Given the description of an element on the screen output the (x, y) to click on. 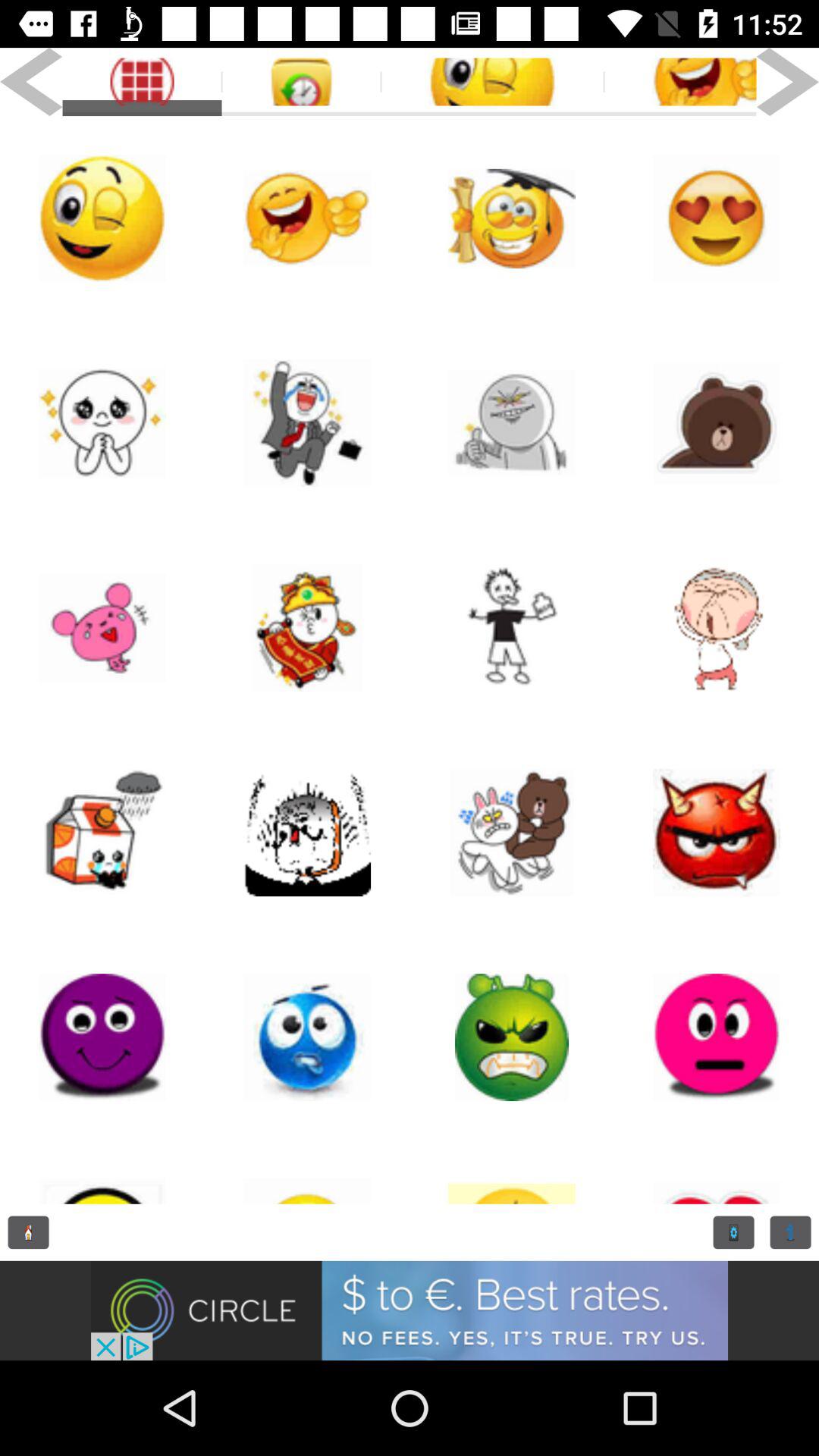
doll button (511, 1171)
